Given the description of an element on the screen output the (x, y) to click on. 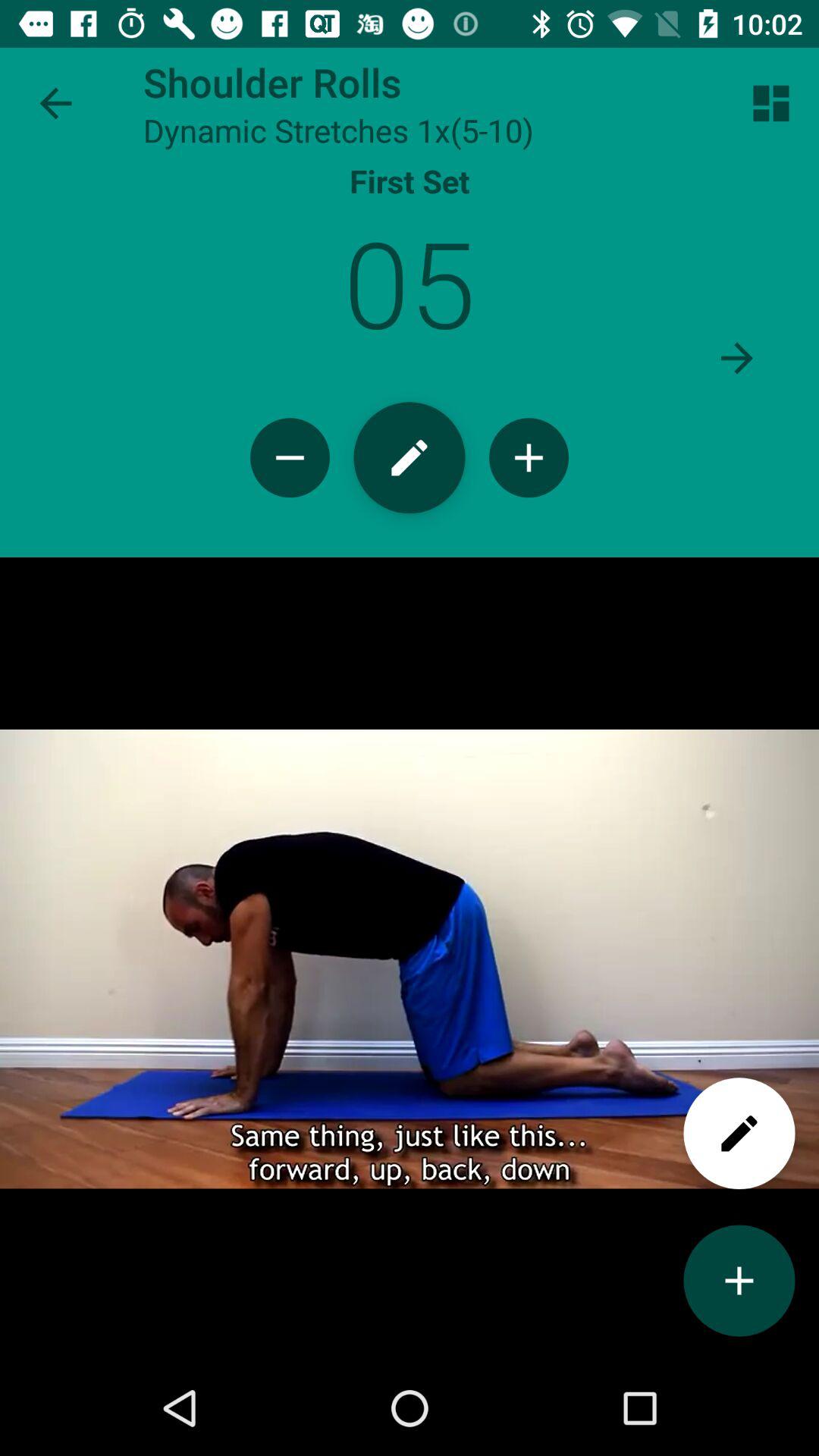
go to incerase (528, 457)
